Given the description of an element on the screen output the (x, y) to click on. 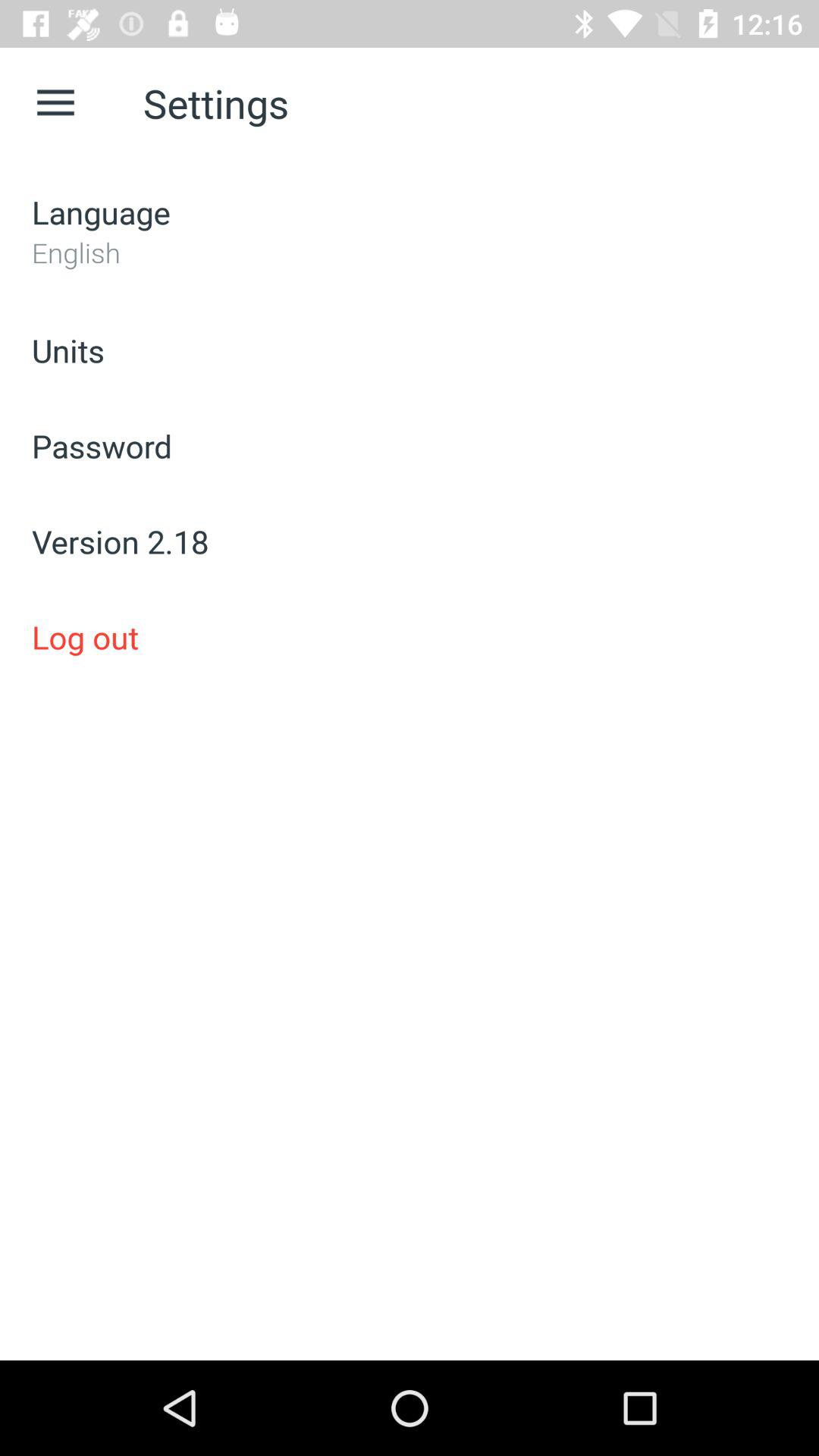
open the icon above log out (409, 541)
